Given the description of an element on the screen output the (x, y) to click on. 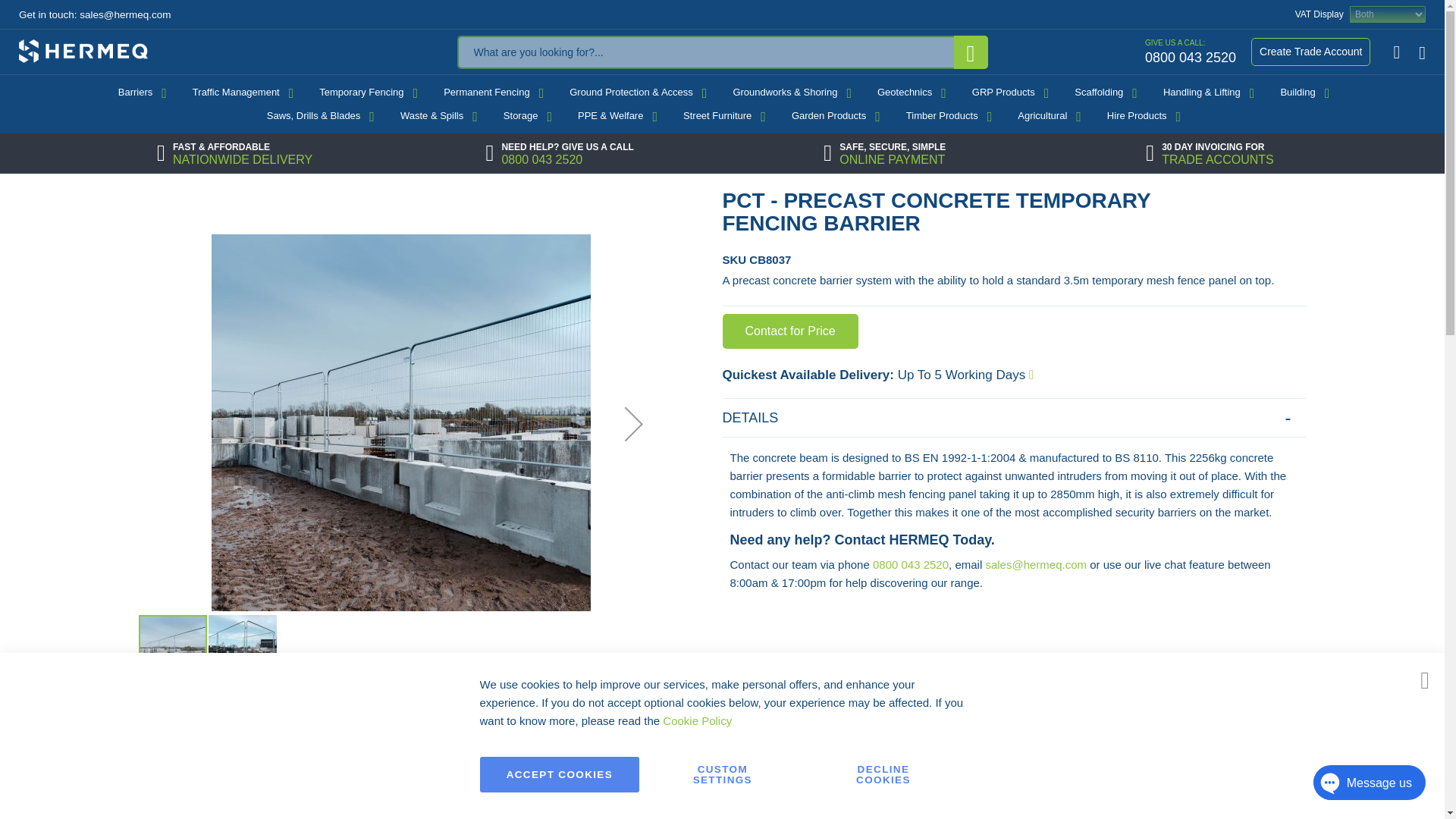
Search (970, 52)
Traffic Management (1188, 51)
Barriers (240, 92)
HERMEQ UK (140, 92)
Create Trade Account (83, 49)
SEARCH (1310, 51)
HERMEQ UK (970, 52)
